Given the description of an element on the screen output the (x, y) to click on. 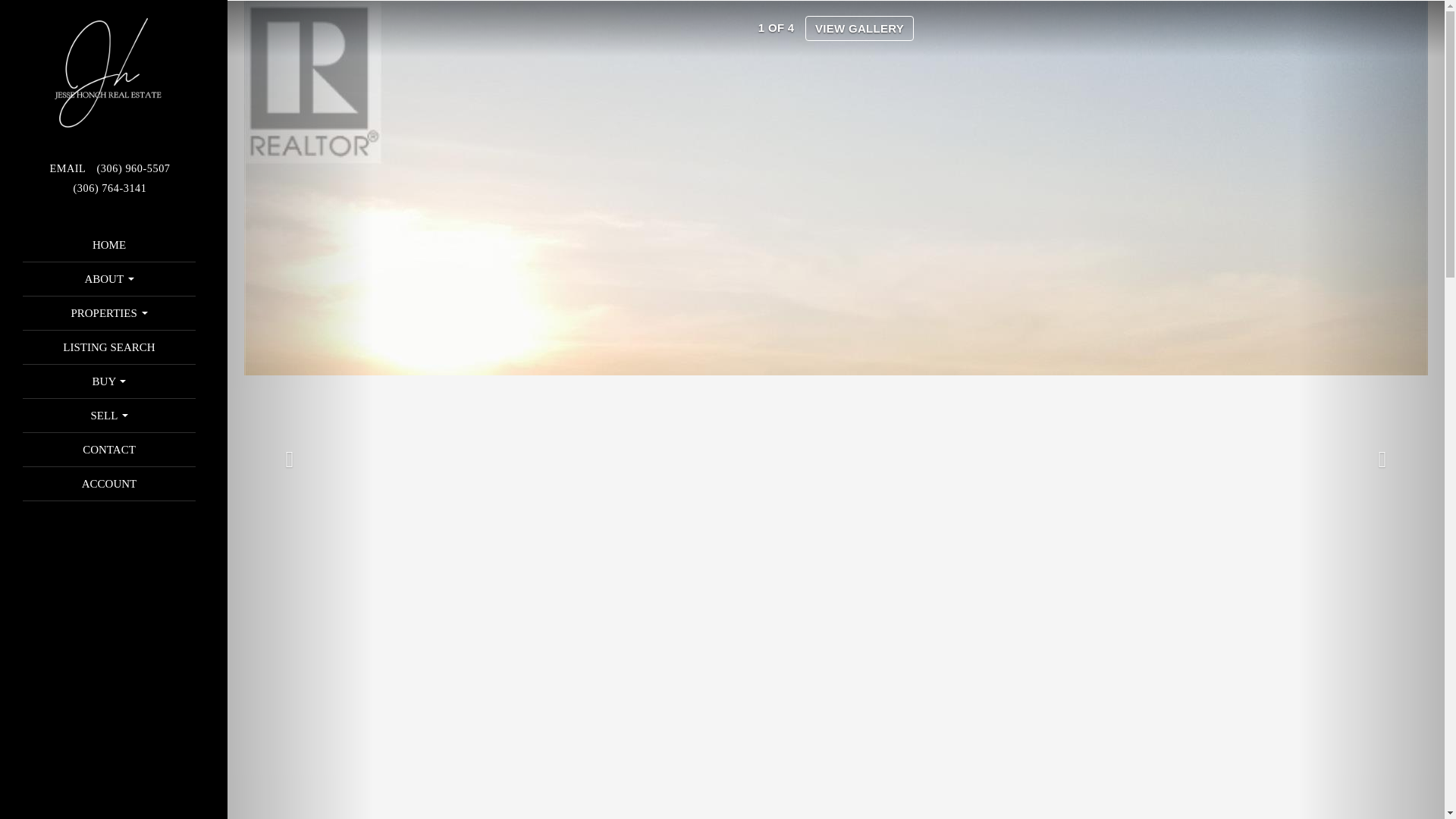
SELL (109, 415)
ACCOUNT (109, 483)
ABOUT (109, 278)
HOME (109, 244)
CONTACT (109, 449)
VIEW GALLERY (859, 27)
BUY (109, 381)
LISTING SEARCH (109, 346)
PROPERTIES (109, 313)
EMAIL (67, 168)
